Given the description of an element on the screen output the (x, y) to click on. 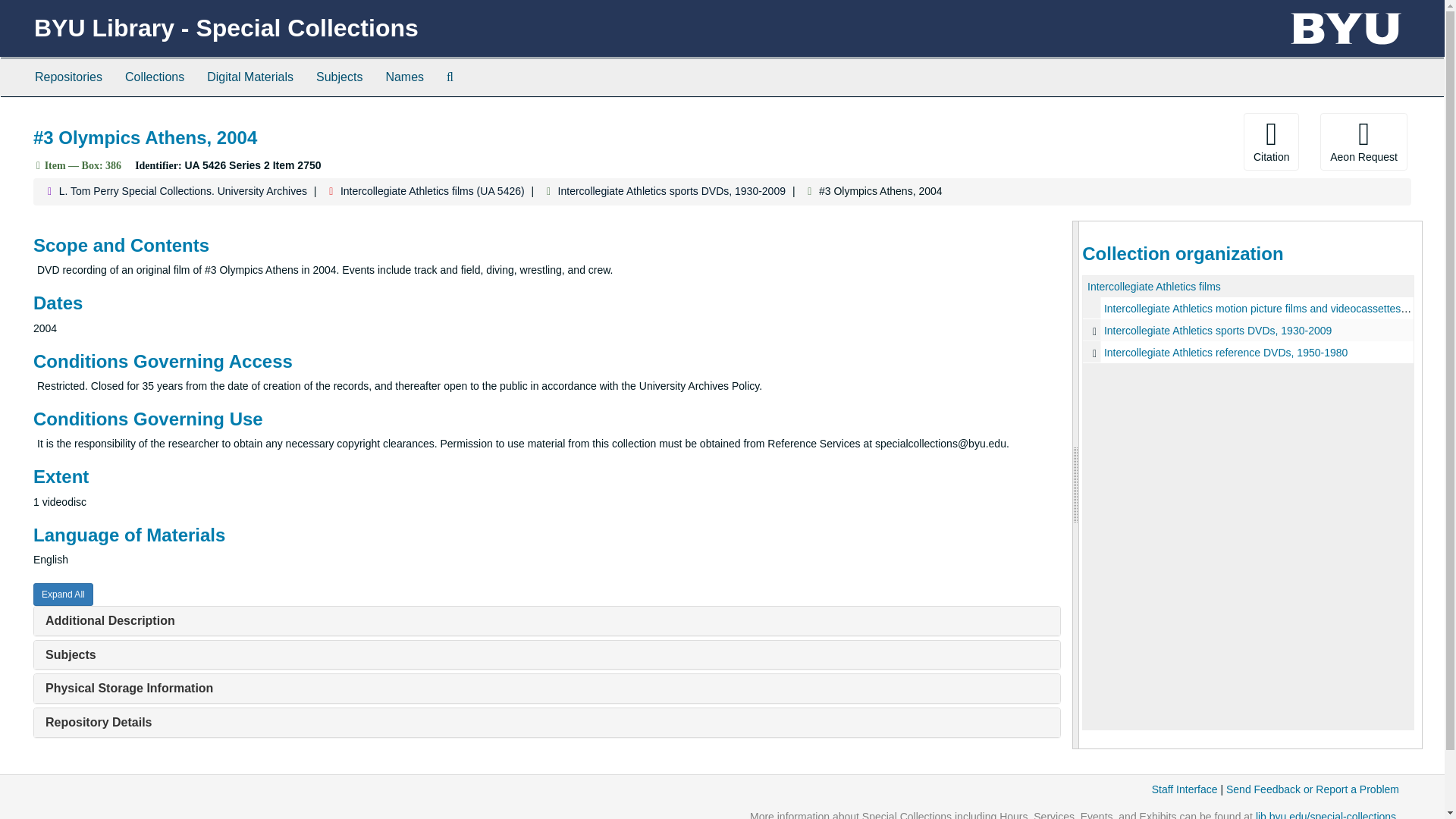
Physical Storage Information (128, 687)
Aeon Request (1363, 141)
Intercollegiate Athletics sports DVDs, 1930-2009 (671, 191)
Intercollegiate Athletics films (1154, 286)
Citation (1270, 141)
Subjects (339, 77)
Repositories (68, 77)
Names (404, 77)
Intercollegiate Athletics sports DVDs (1248, 330)
Subjects (70, 654)
